Given the description of an element on the screen output the (x, y) to click on. 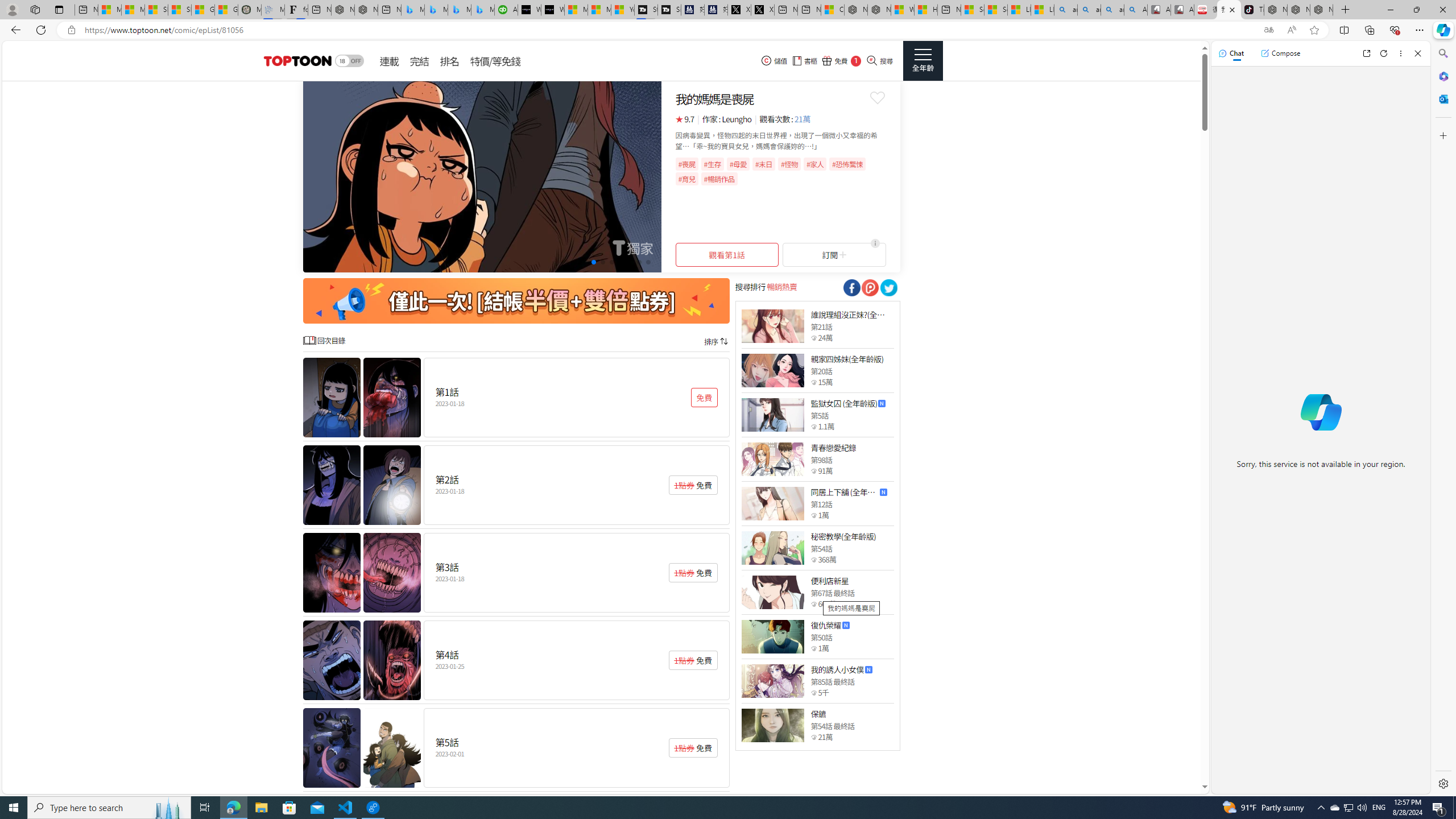
Settings (1442, 783)
Go to slide 5 (602, 261)
Split screen (1344, 29)
Compose (1280, 52)
Class: socialShare (887, 287)
